Given the description of an element on the screen output the (x, y) to click on. 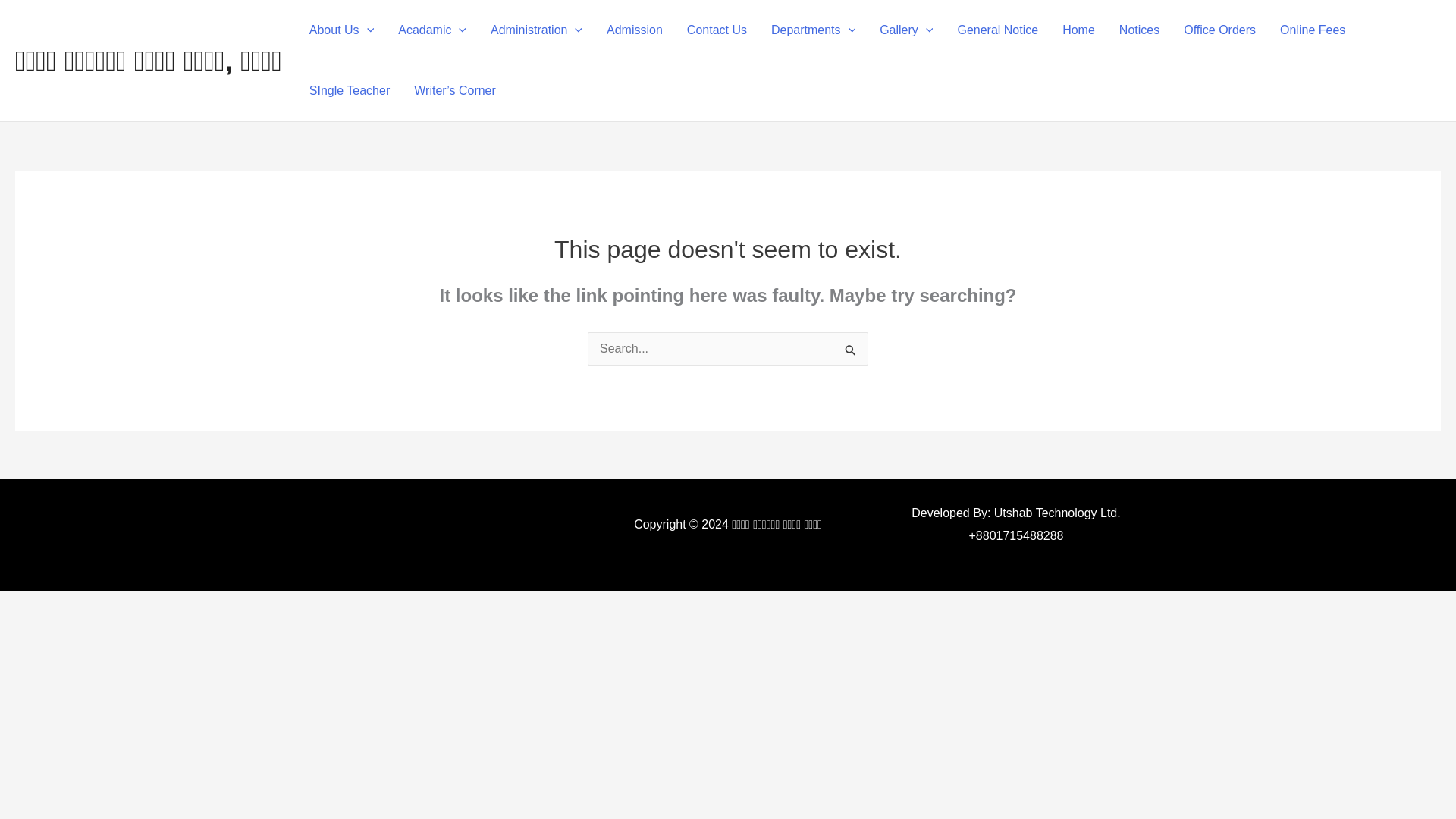
Administration (536, 30)
Admission (634, 30)
Contact Us (716, 30)
Departments (812, 30)
Acadamic (432, 30)
About Us (341, 30)
